Given the description of an element on the screen output the (x, y) to click on. 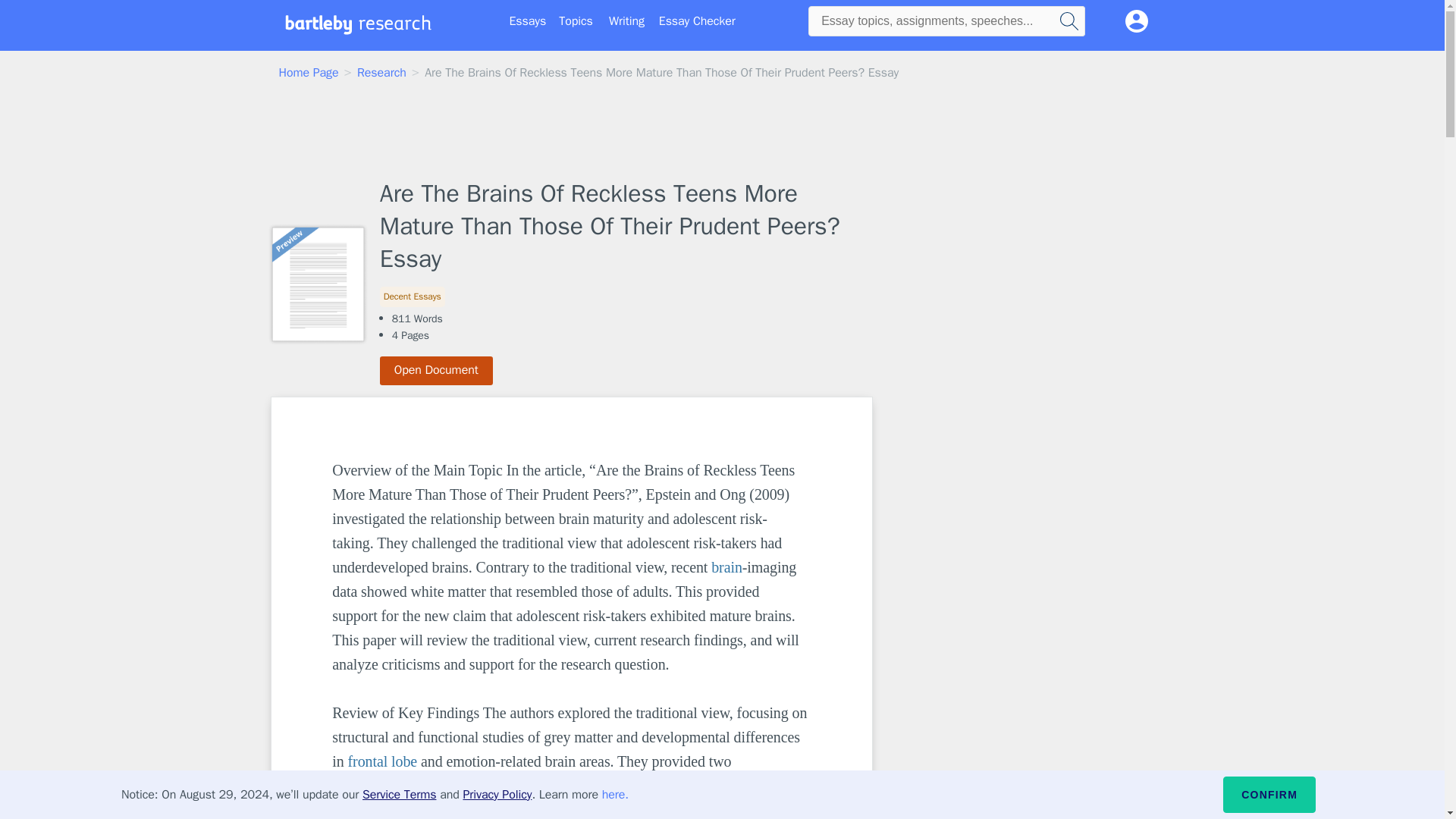
Research (381, 72)
Topics (575, 20)
brain (726, 566)
Home Page (309, 72)
Writing (626, 20)
Open Document (436, 370)
Essay Checker (697, 20)
Essays (528, 20)
frontal lobe (382, 760)
